Given the description of an element on the screen output the (x, y) to click on. 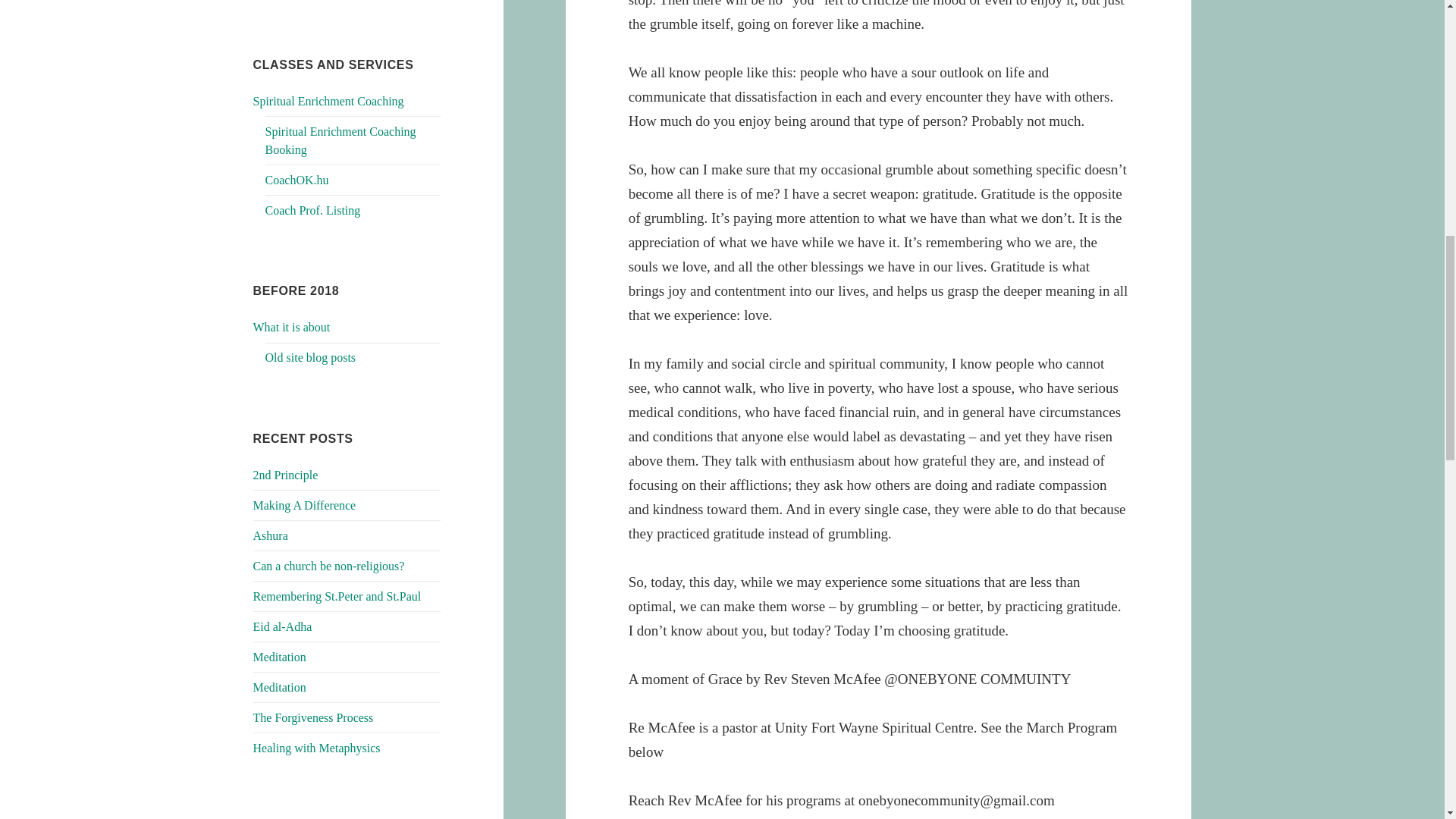
2nd Principle (285, 474)
CoachOK.hu (296, 179)
Spiritual Enrichment Coaching (328, 101)
Meditation (279, 686)
Can a church be non-religious? (328, 565)
Old site blog posts (310, 357)
Eid al-Adha (283, 626)
Making A Difference (304, 504)
What it is about (291, 327)
Spiritual Enrichment Coaching Booking (340, 140)
